Given the description of an element on the screen output the (x, y) to click on. 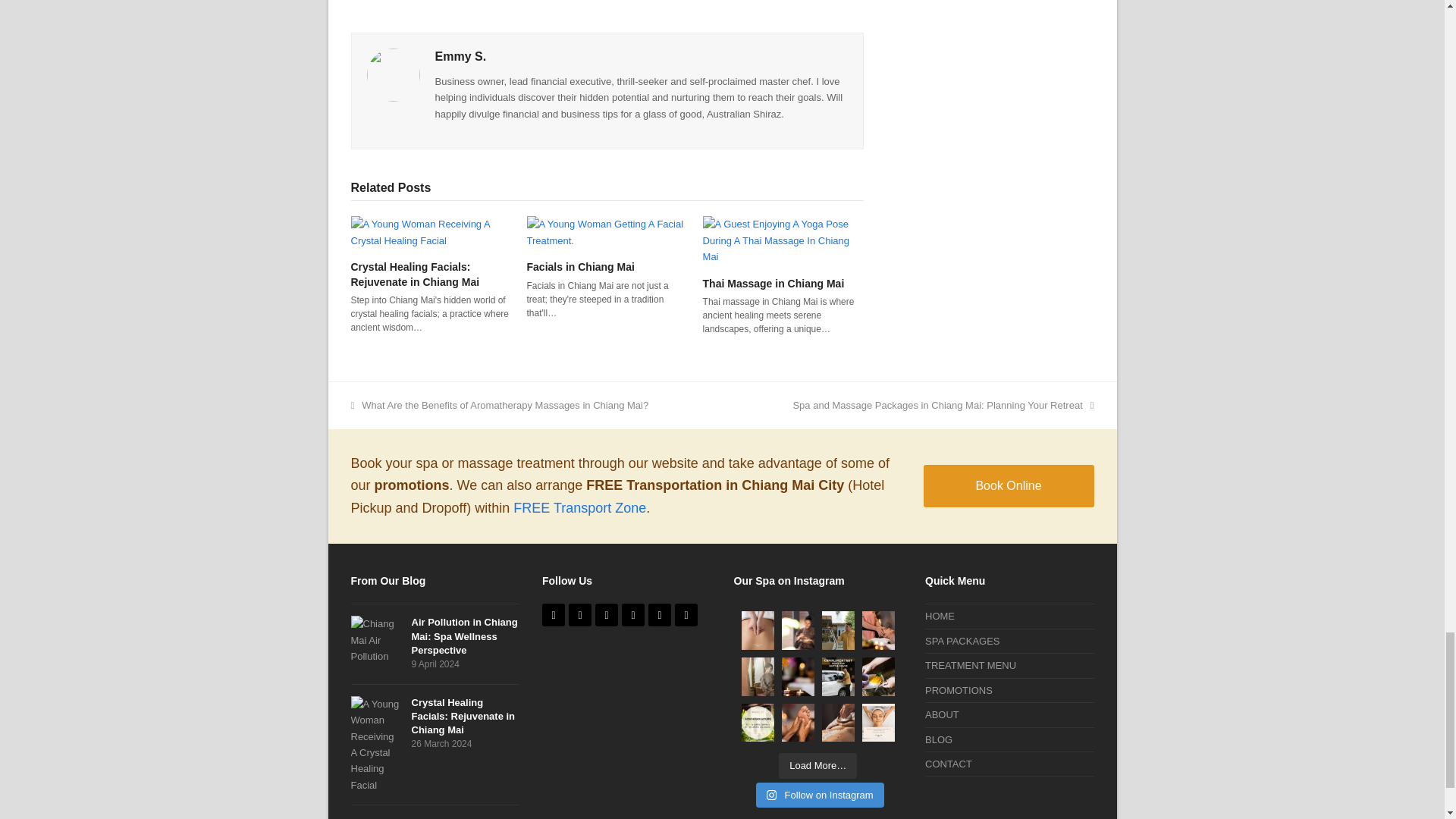
Visit Author Page (393, 74)
Thai Massage in Chiang Mai (783, 239)
Crystal Healing Facials: Rejuvenate in Chiang Mai (430, 231)
Facials in Chiang Mai (607, 231)
Visit Author Page (460, 56)
